Given the description of an element on the screen output the (x, y) to click on. 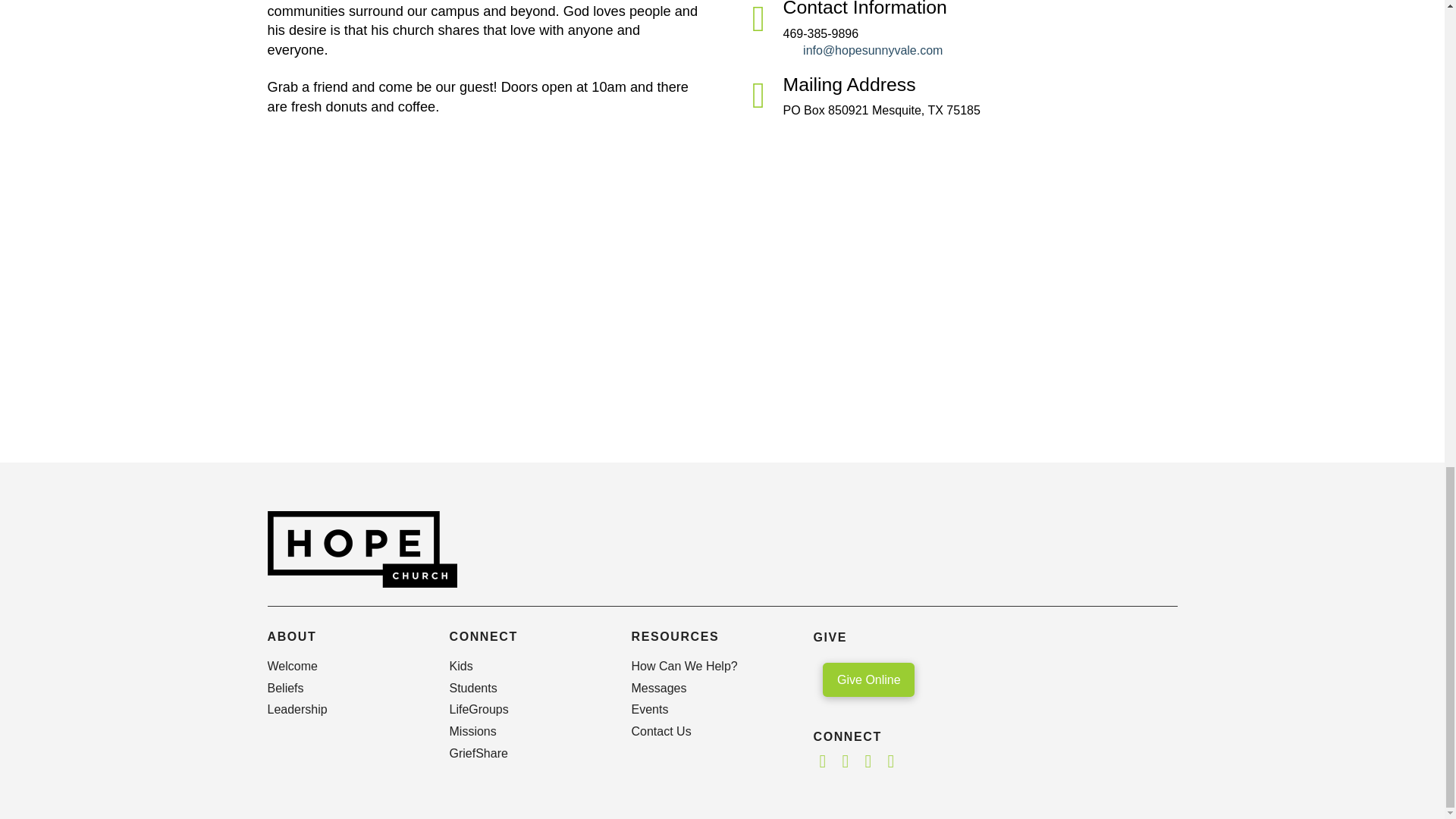
LifeGroups (527, 710)
Contact Us (709, 731)
GriefShare (527, 753)
Messages (709, 688)
Welcome (345, 666)
Students (527, 688)
How Can We Help? (709, 666)
Missions (527, 731)
Beliefs (345, 688)
Give Online (868, 679)
Leadership (345, 710)
Events (709, 710)
Kids (527, 666)
